Given the description of an element on the screen output the (x, y) to click on. 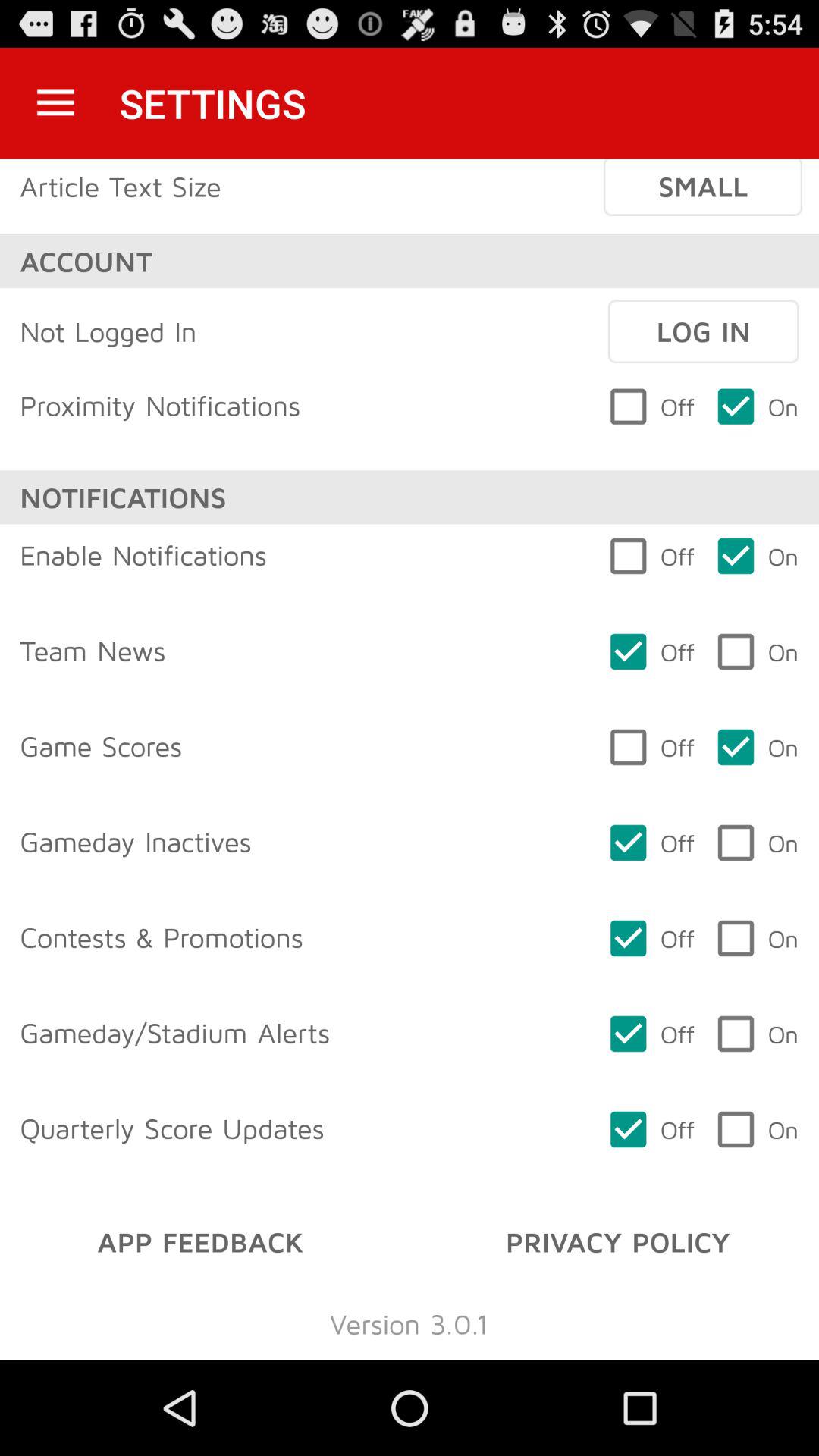
turn on the icon next to the settings icon (55, 103)
